Given the description of an element on the screen output the (x, y) to click on. 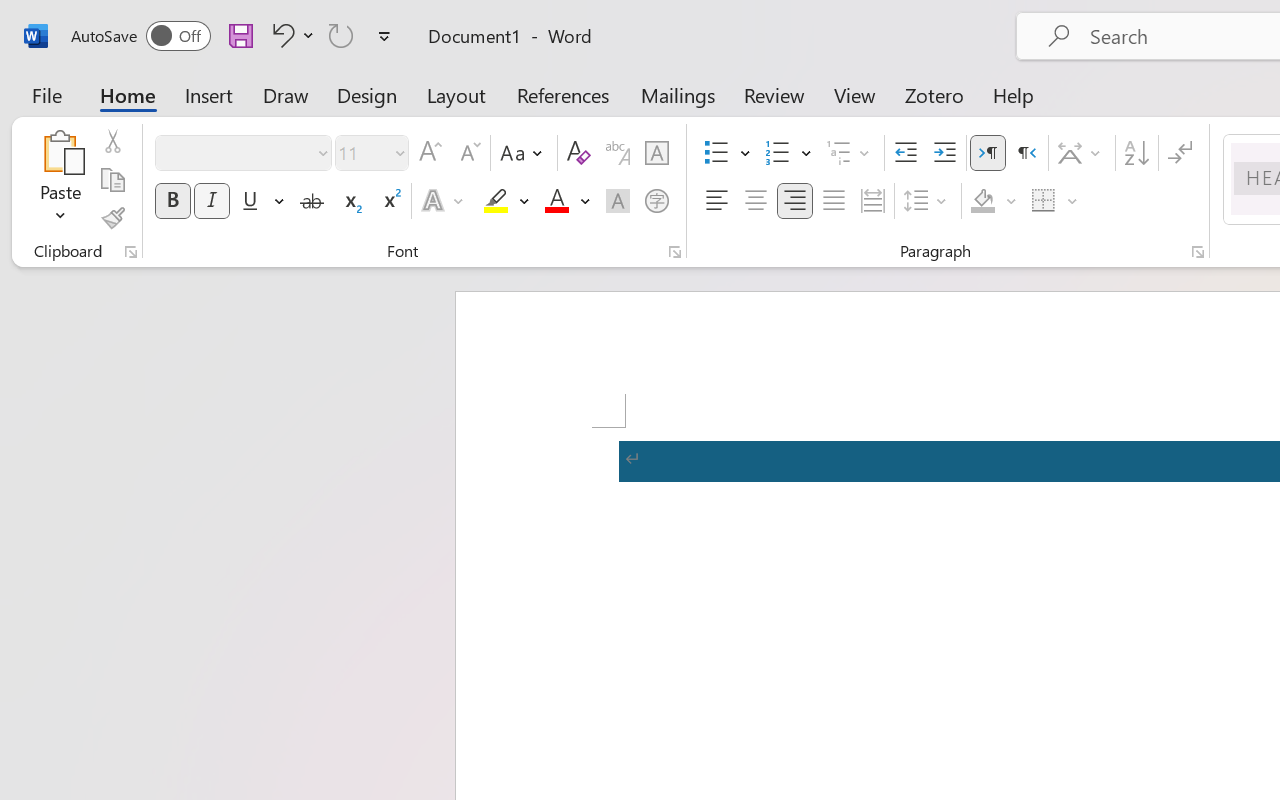
Left-to-Right (988, 153)
Repeat TCSCTranslate (341, 35)
